Given the description of an element on the screen output the (x, y) to click on. 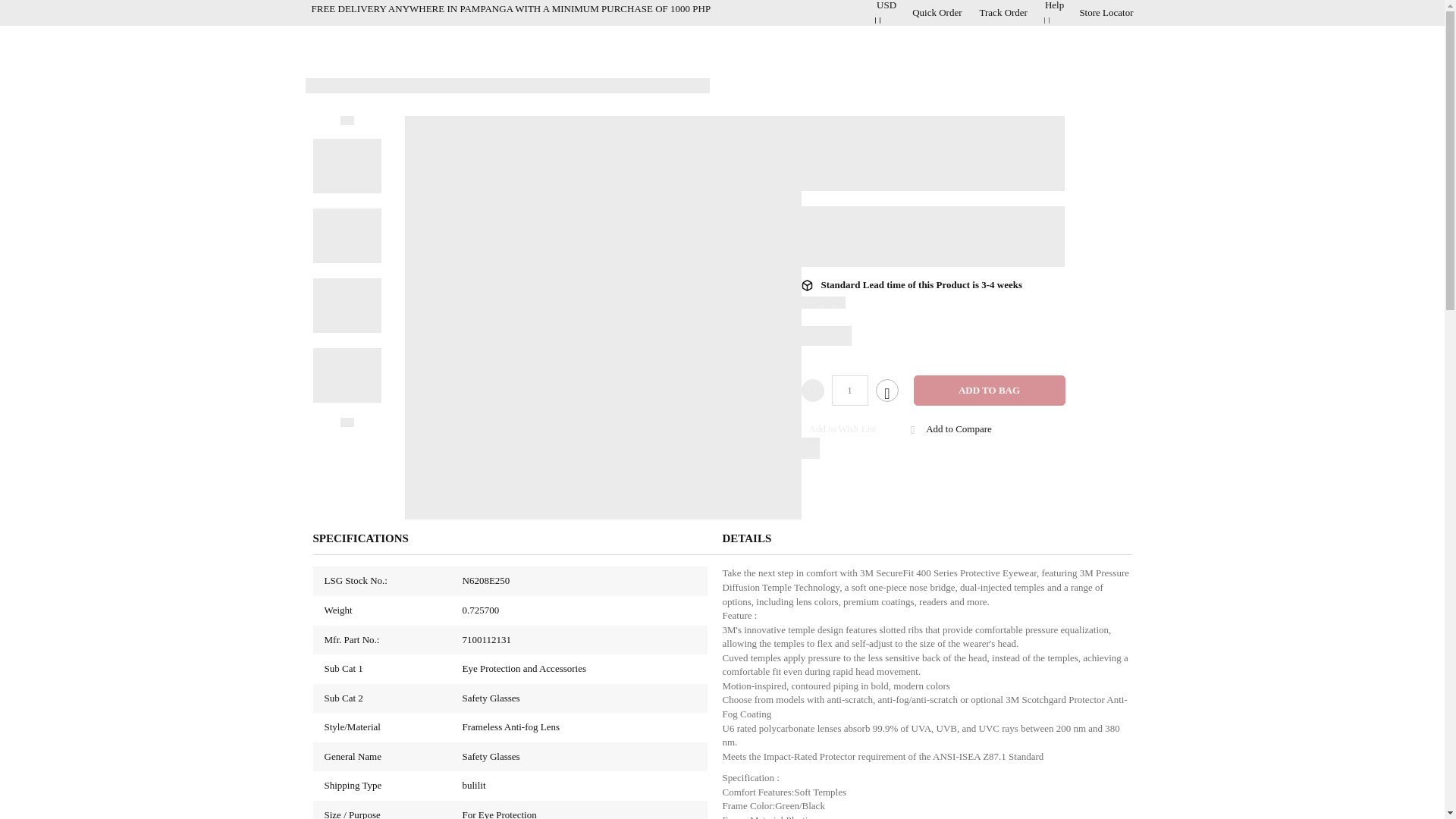
Store Locator (1105, 12)
Quick Order (936, 12)
Track Order (1003, 12)
1 (849, 390)
